Given the description of an element on the screen output the (x, y) to click on. 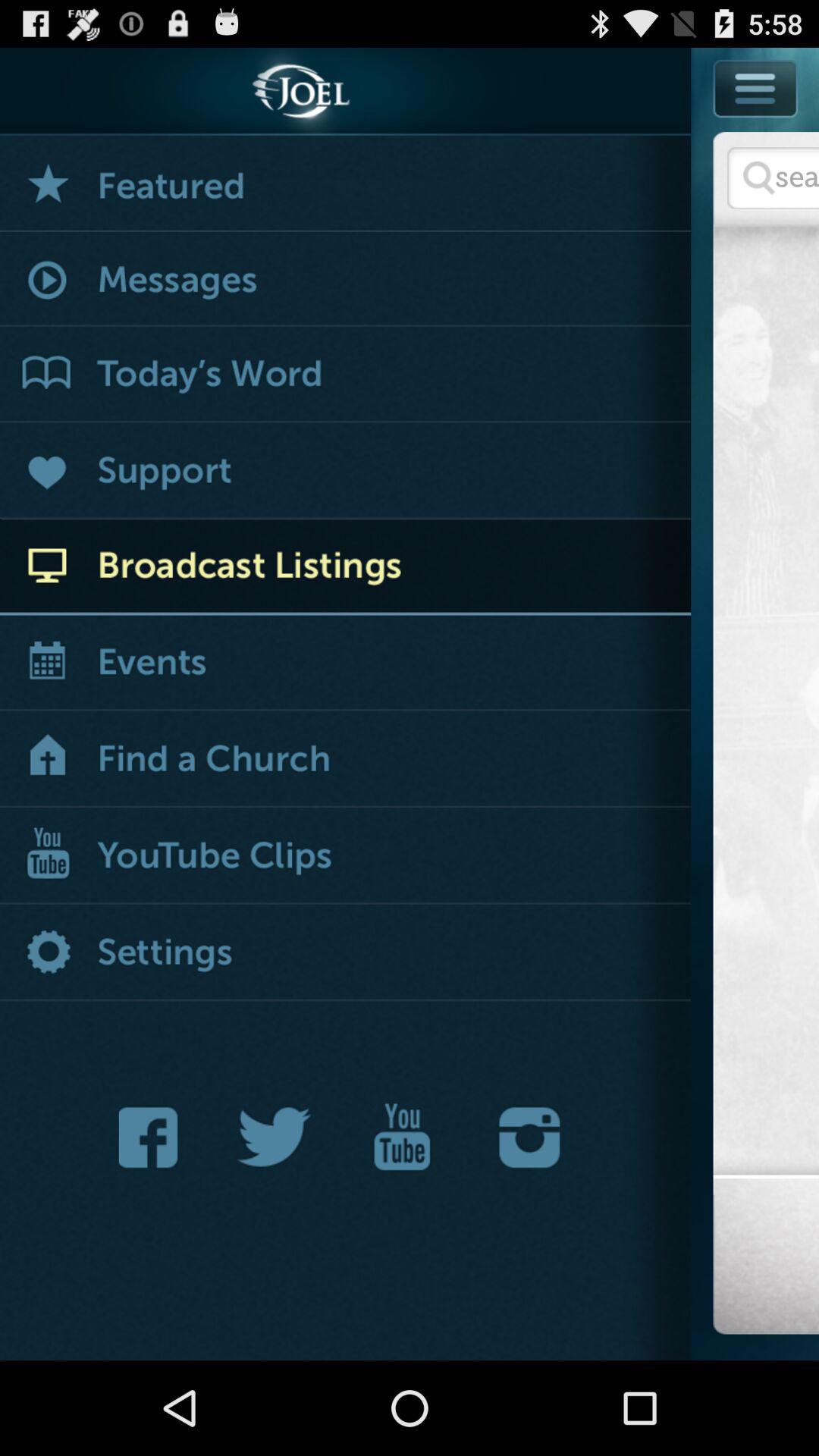
serarch (773, 177)
